Given the description of an element on the screen output the (x, y) to click on. 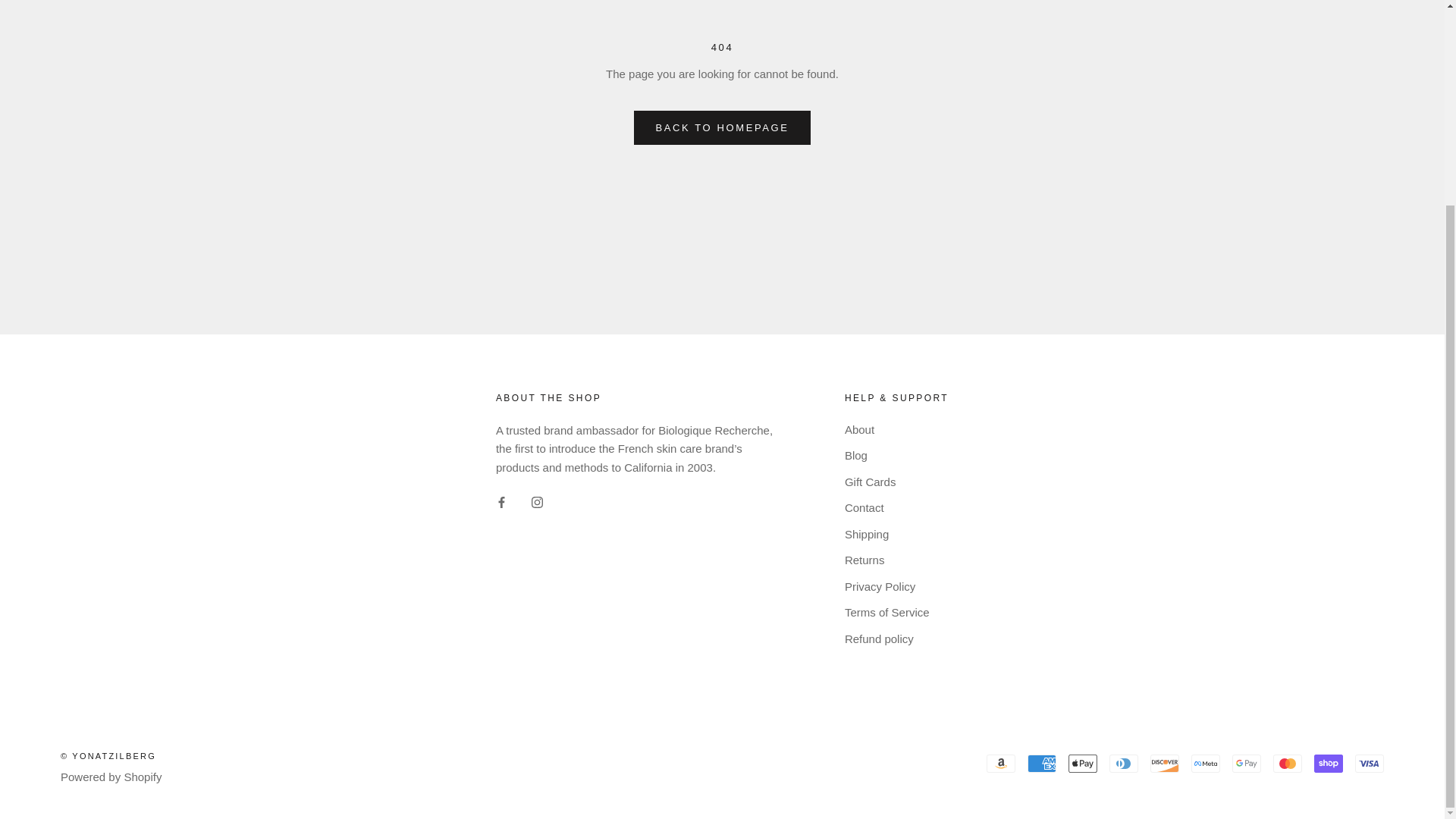
Mastercard (1286, 763)
Visa (1369, 763)
Shop Pay (1328, 763)
American Express (1042, 763)
Meta Pay (1205, 763)
Amazon (1000, 763)
Apple Pay (1082, 763)
Google Pay (1245, 763)
Discover (1164, 763)
Diners Club (1123, 763)
